Given the description of an element on the screen output the (x, y) to click on. 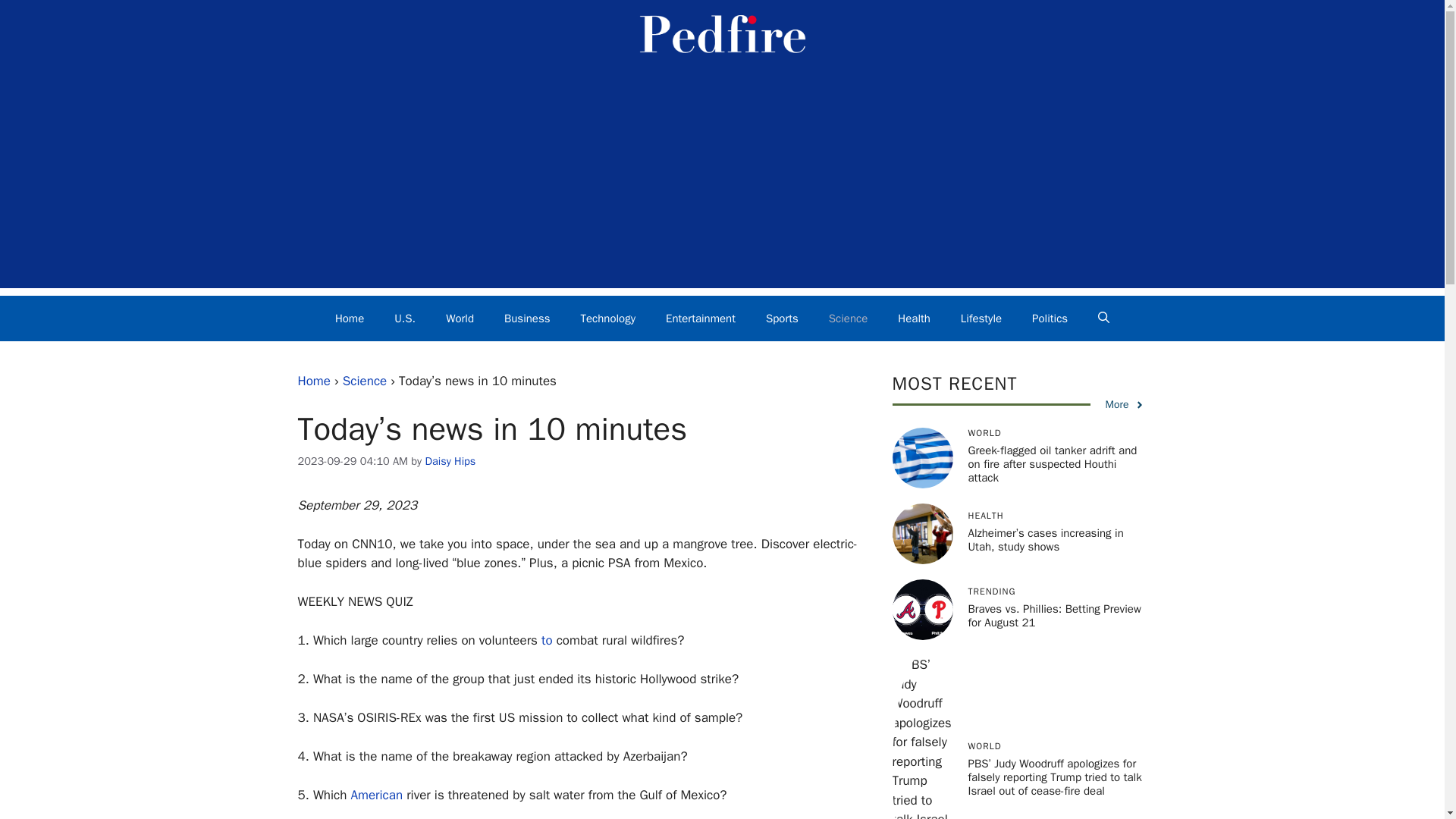
World (459, 318)
Lifestyle (980, 318)
Sports (782, 318)
Health (913, 318)
American (376, 795)
Science (848, 318)
Home (313, 381)
View all posts by Daisy Hips (450, 460)
Entertainment (700, 318)
Science (364, 381)
